Given the description of an element on the screen output the (x, y) to click on. 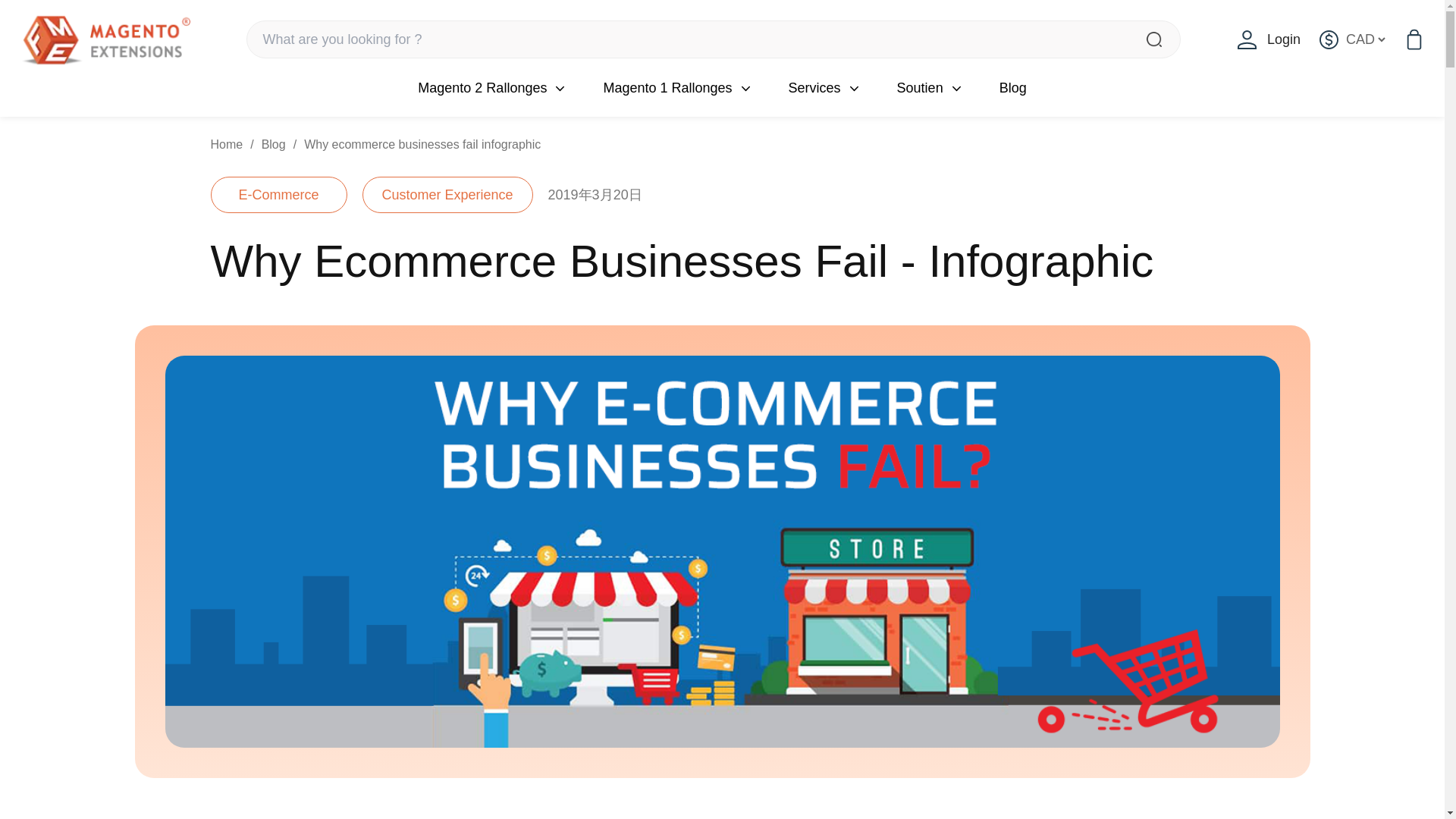
Magento 2 Rallonges (482, 87)
Login (1268, 39)
Home (227, 144)
Soutien (919, 87)
Blog (273, 144)
Services (815, 87)
Magento 1 Rallonges (667, 87)
E-Commerce (279, 194)
Why ecommerce businesses fail infographic (422, 144)
Customer Experience (447, 194)
